Given the description of an element on the screen output the (x, y) to click on. 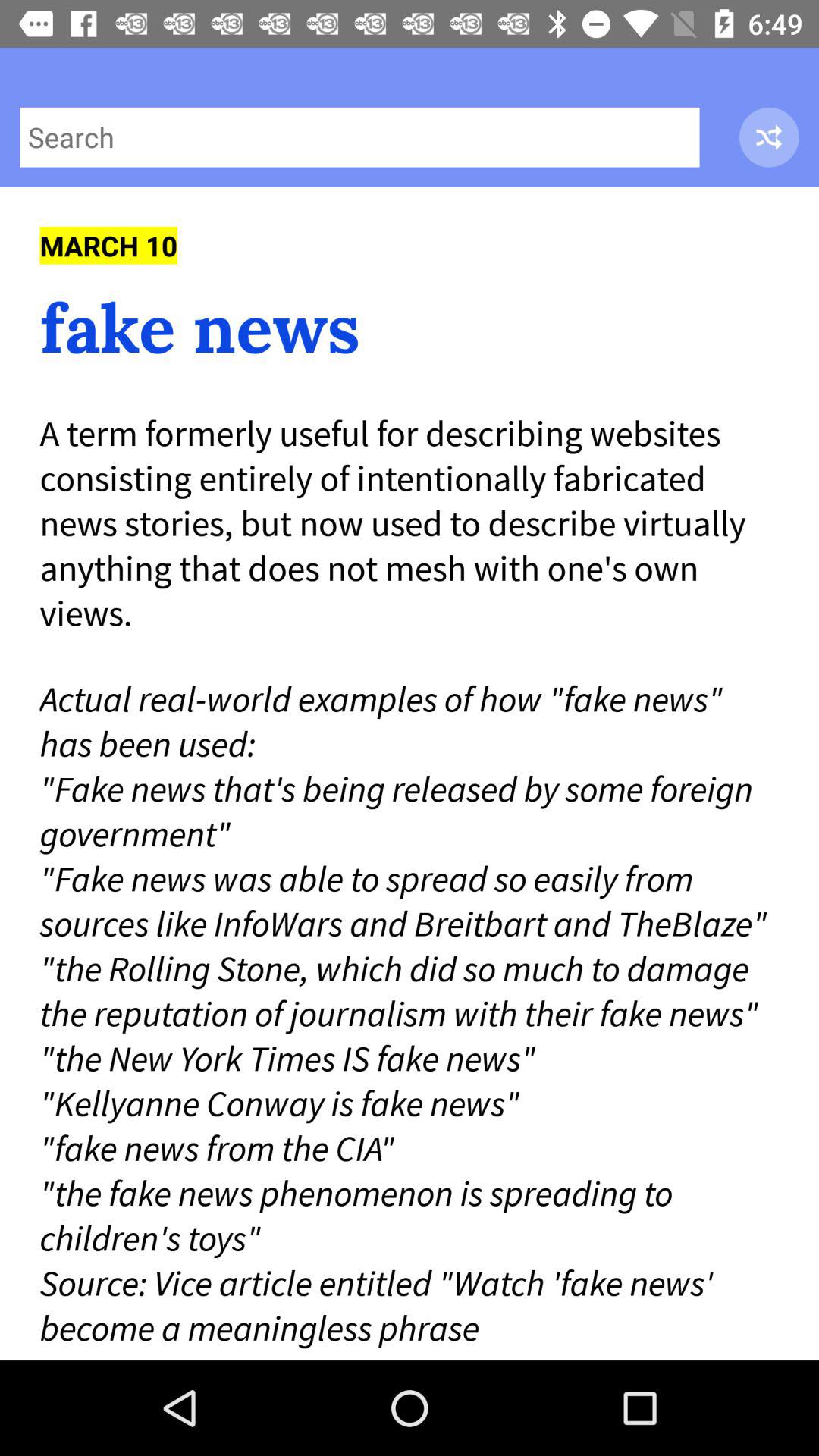
search function (359, 137)
